Given the description of an element on the screen output the (x, y) to click on. 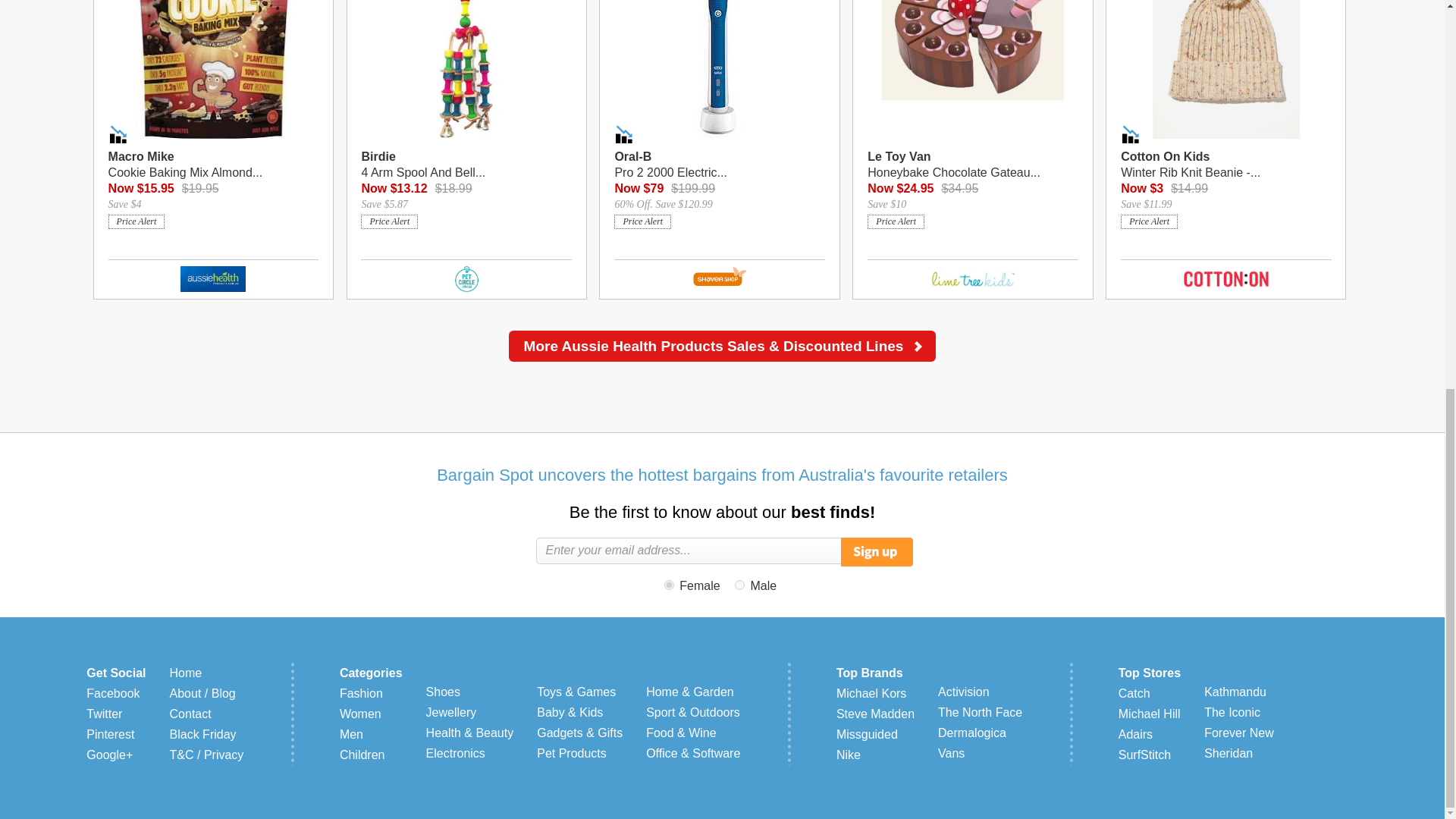
Oral-B Pro 2 2000 Electric Toothbrush - Dark Blue (718, 164)
Le Toy Van Honeybake Chocolate Gateau Cake (972, 164)
Birdie 4 Arm Spool And Bell Display Each (466, 164)
Cotton On Kids - Winter Rib Knit Beanie - Dark vanilla (1225, 164)
7108893 (668, 584)
7108894 (739, 584)
